Given the description of an element on the screen output the (x, y) to click on. 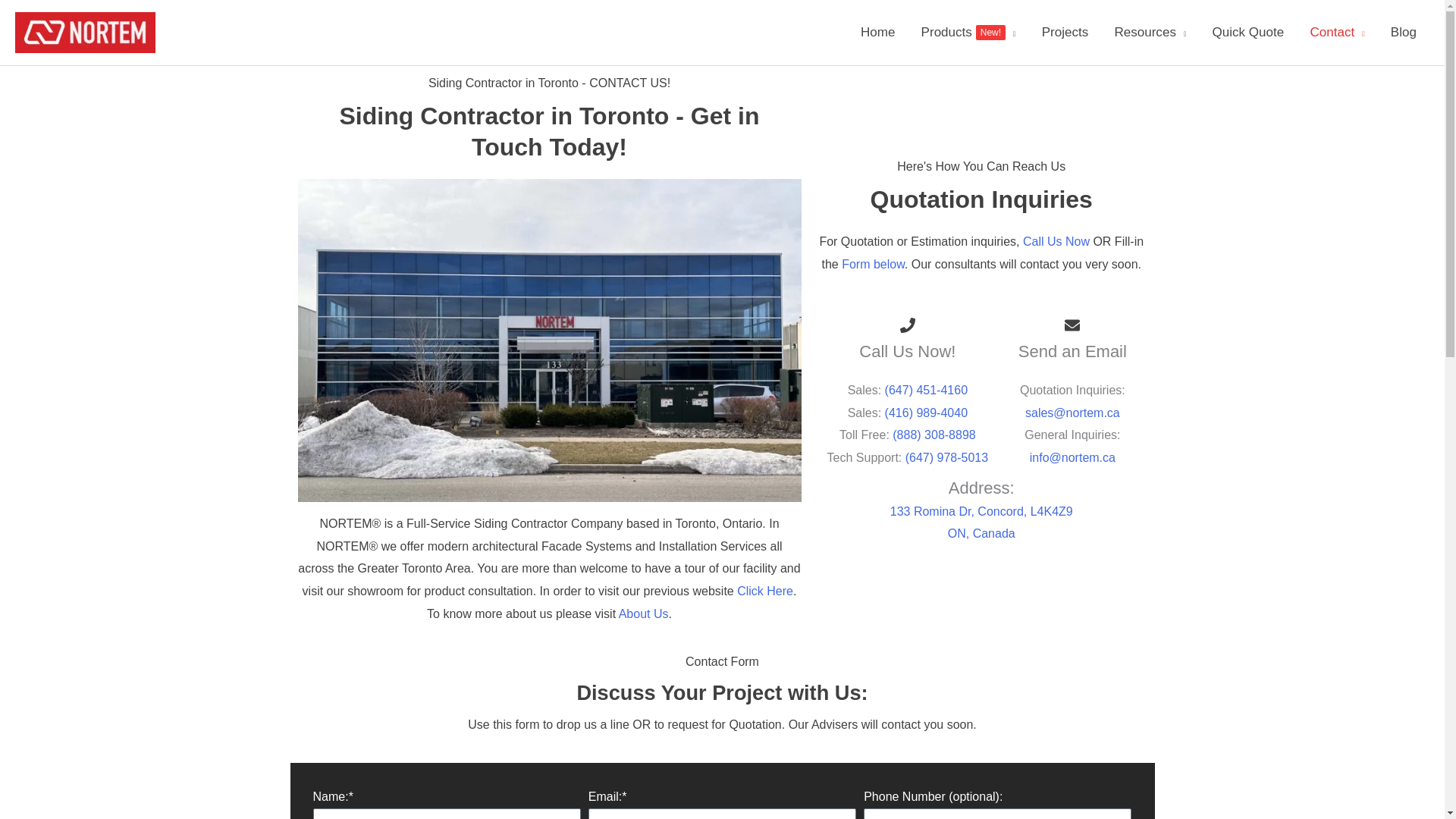
Projects (1065, 32)
Resources (1149, 32)
Home (968, 32)
